Given the description of an element on the screen output the (x, y) to click on. 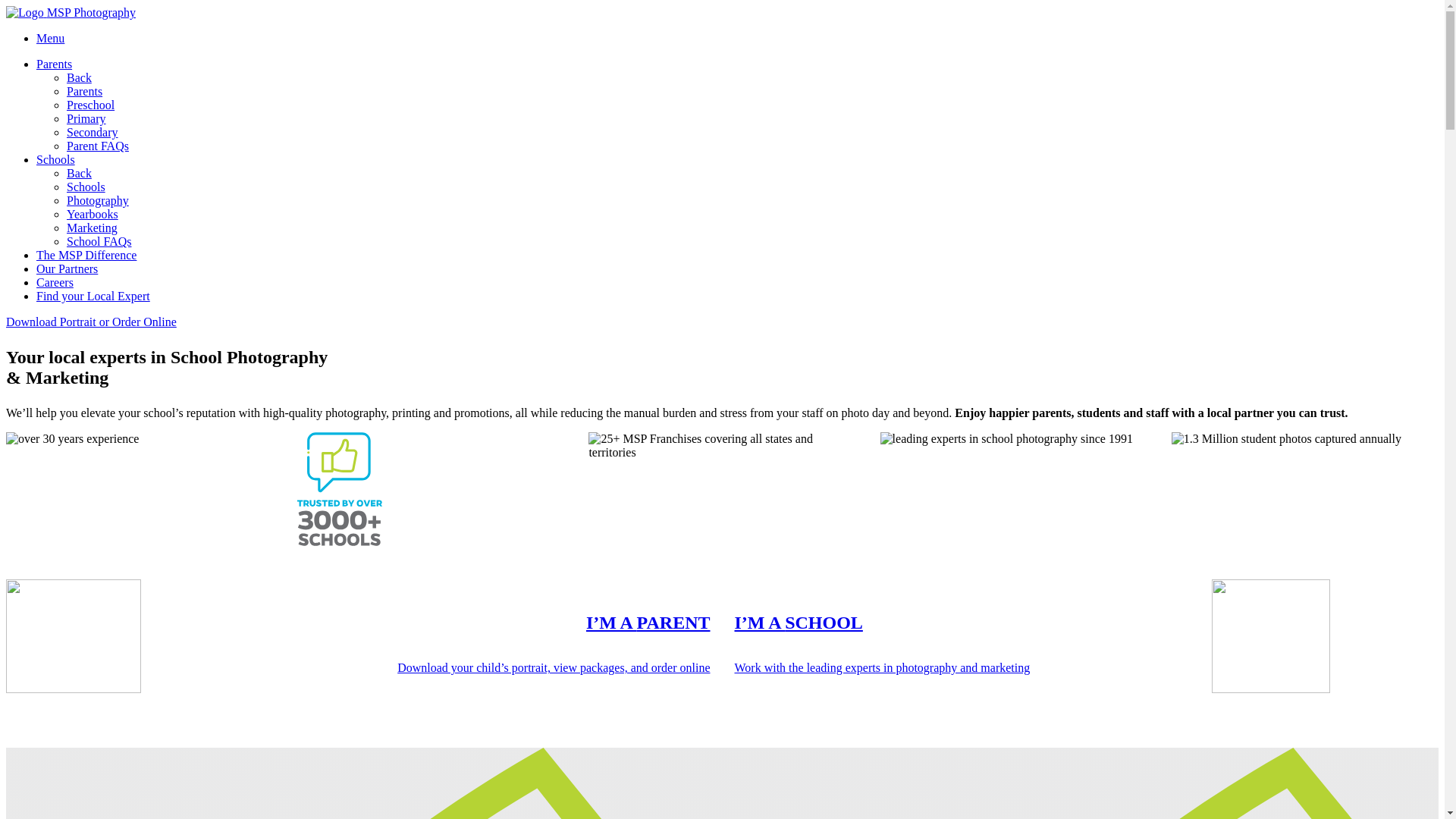
Parents Element type: text (84, 90)
Parents Element type: text (54, 63)
Primary Element type: text (752, 118)
Work with the leading experts in photography and marketing Element type: text (881, 667)
Careers Element type: text (54, 282)
Yearbooks Element type: text (752, 213)
Our Partners Element type: text (66, 268)
Parent FAQs Element type: text (752, 145)
Download Portrait or Order Online Element type: text (91, 321)
MSP Photography Element type: text (70, 12)
Back Element type: text (78, 172)
School FAQs Element type: text (752, 241)
Schools Element type: text (85, 186)
The MSP Difference Element type: text (86, 254)
Back Element type: text (78, 77)
Schools Element type: text (55, 159)
Marketing Element type: text (752, 227)
Secondary Element type: text (752, 131)
Find your Local Expert Element type: text (93, 295)
Preschool Element type: text (752, 104)
Menu Element type: text (50, 37)
Photography Element type: text (752, 200)
